Given the description of an element on the screen output the (x, y) to click on. 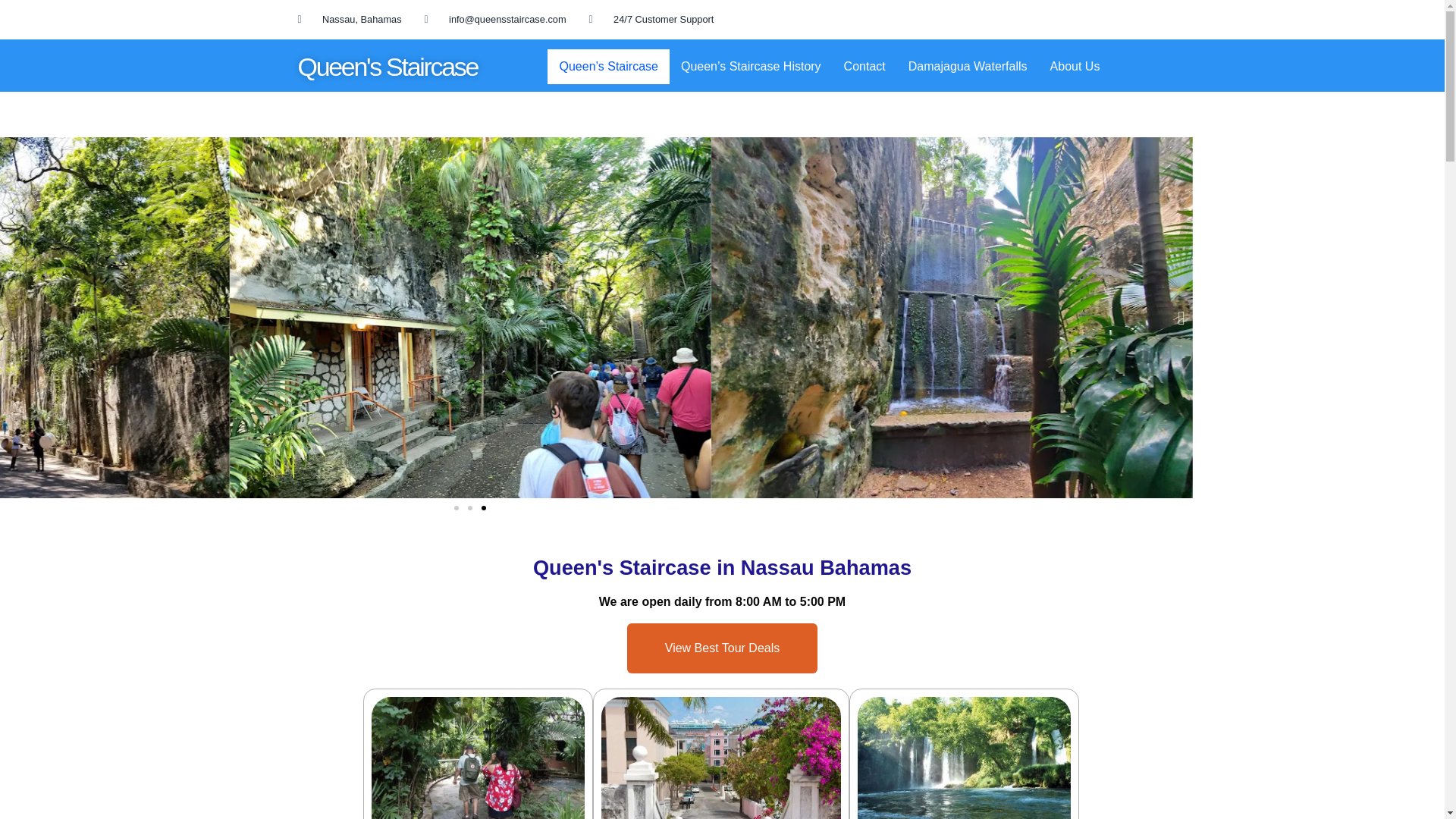
View Best Tour Deals (721, 648)
Contact (864, 66)
About Us (1075, 66)
Damajagua Waterfalls (967, 66)
